Given the description of an element on the screen output the (x, y) to click on. 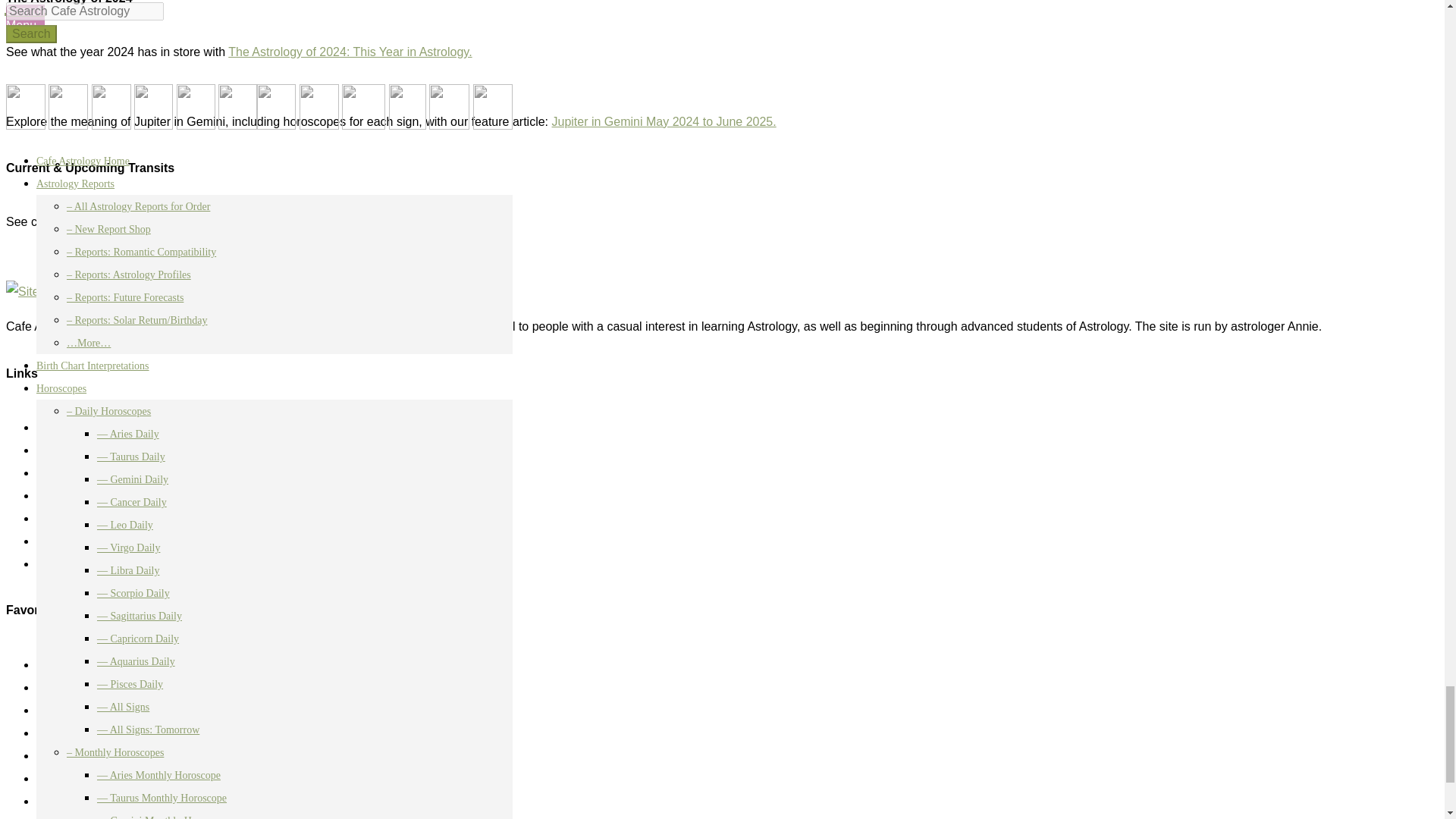
Daily Horoscopes (83, 709)
